Given the description of an element on the screen output the (x, y) to click on. 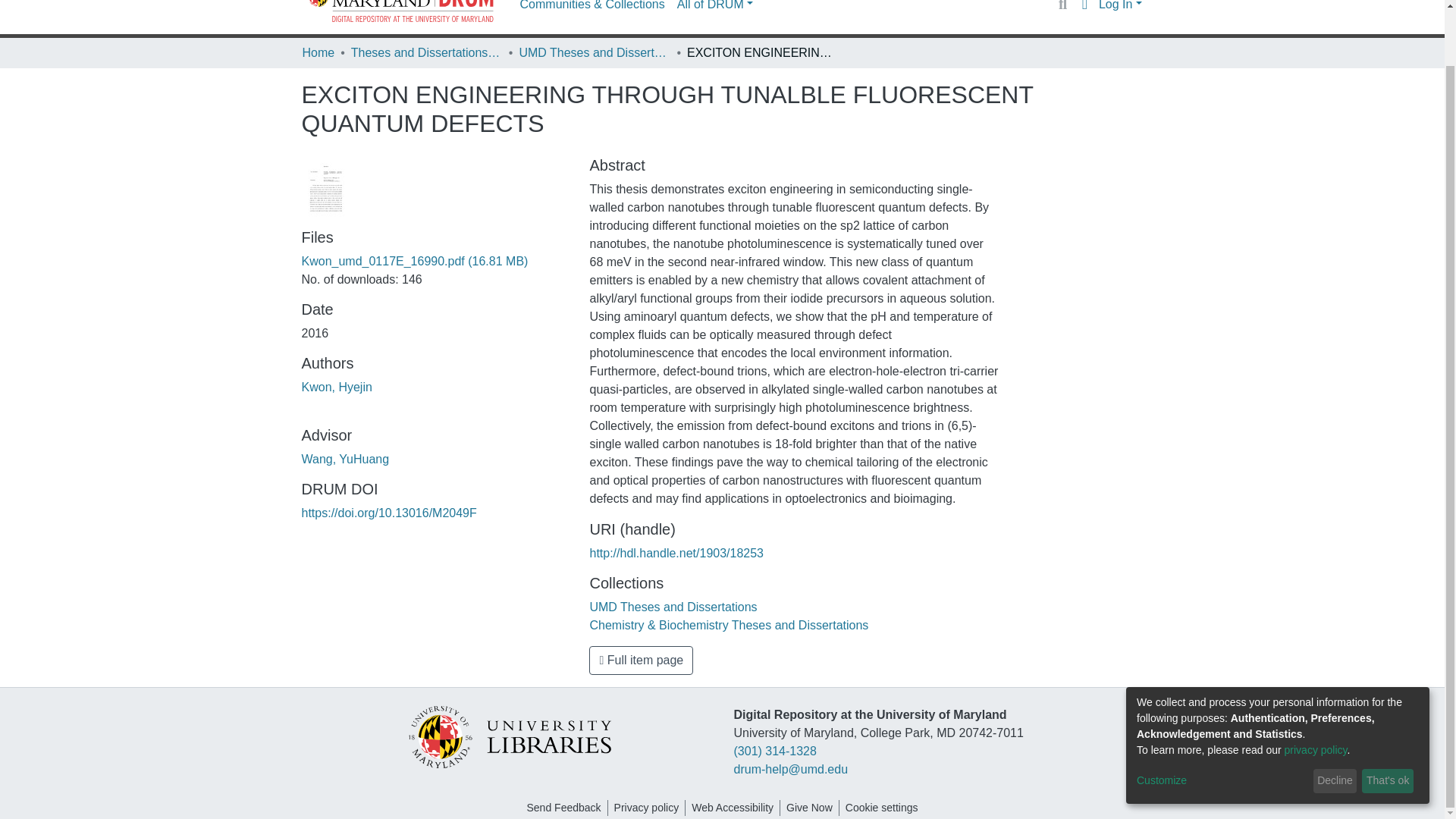
Web Accessibility (731, 807)
Privacy policy (646, 807)
Theses and Dissertations from UMD (426, 53)
Language switch (1084, 6)
All of DRUM (714, 9)
Home (317, 53)
Log In (1119, 5)
Full item page (641, 660)
Wang, YuHuang (345, 459)
Search (1061, 6)
UMD Theses and Dissertations (593, 53)
Libraries Home Page (508, 735)
Send Feedback (563, 807)
Kwon, Hyejin (336, 386)
UMD Theses and Dissertations (673, 606)
